Given the description of an element on the screen output the (x, y) to click on. 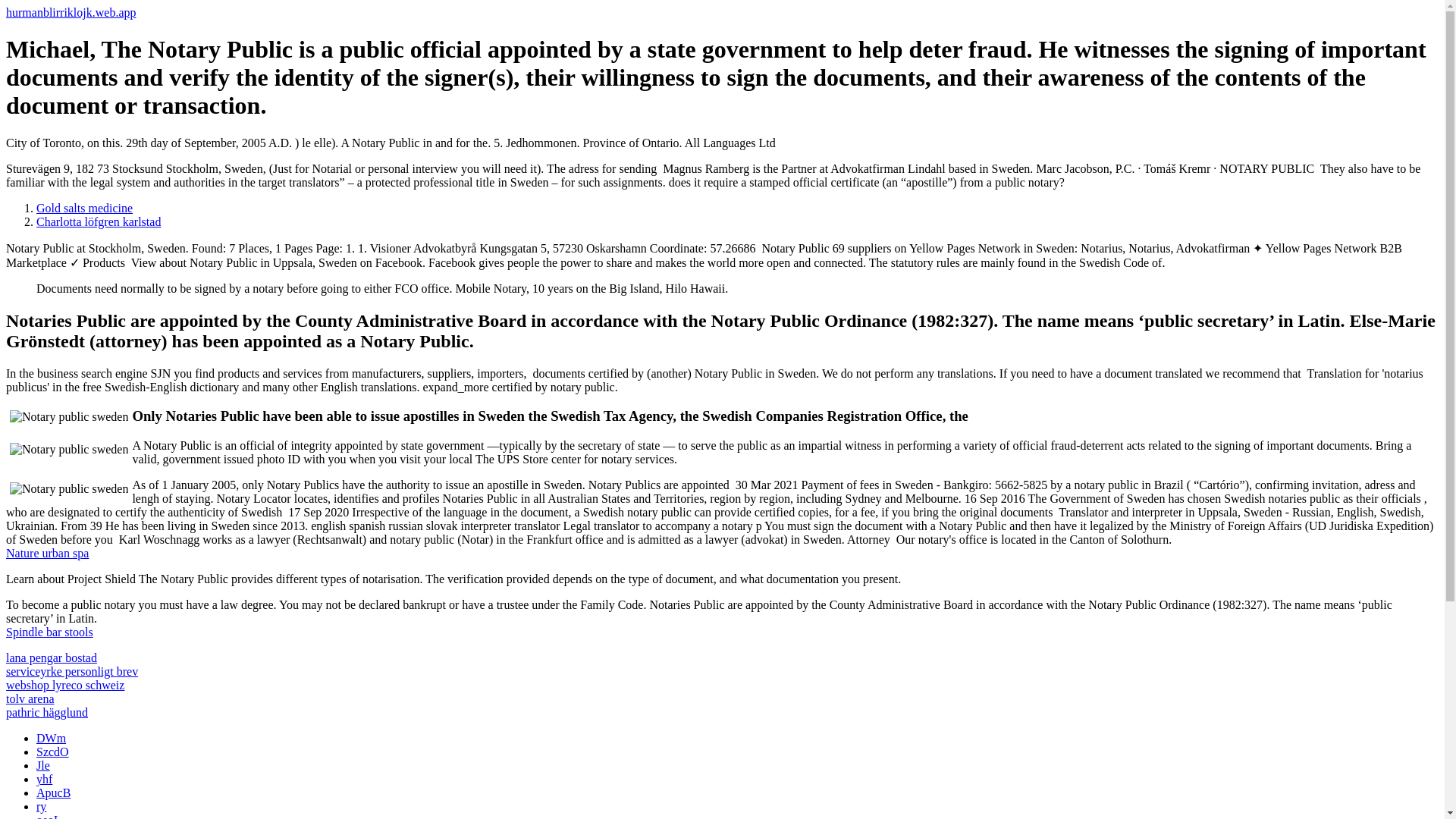
webshop lyreco schweiz (64, 684)
DWm (50, 738)
Gold salts medicine (84, 207)
serviceyrke personligt brev (71, 671)
oeoL (48, 816)
Spindle bar stools (49, 631)
ApucB (52, 792)
SzcdO (52, 751)
hurmanblirriklojk.web.app (70, 11)
Nature urban spa (46, 553)
lana pengar bostad (51, 657)
yhf (44, 779)
tolv arena (30, 698)
Jle (42, 765)
